Given the description of an element on the screen output the (x, y) to click on. 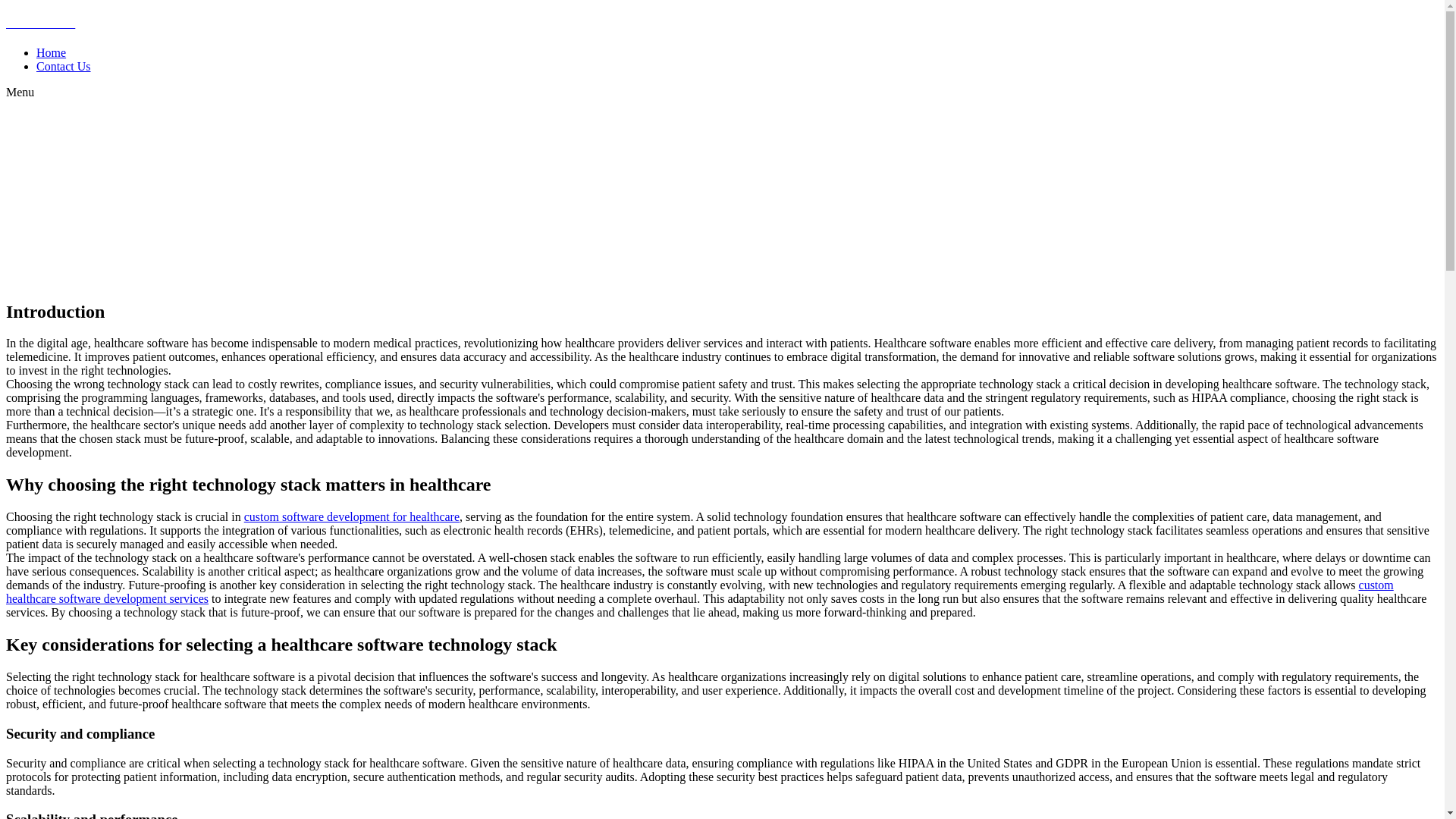
Contact Us (63, 65)
Home (50, 51)
custom software development for healthcare (352, 516)
custom healthcare software development services (699, 591)
Menu (19, 91)
